Given the description of an element on the screen output the (x, y) to click on. 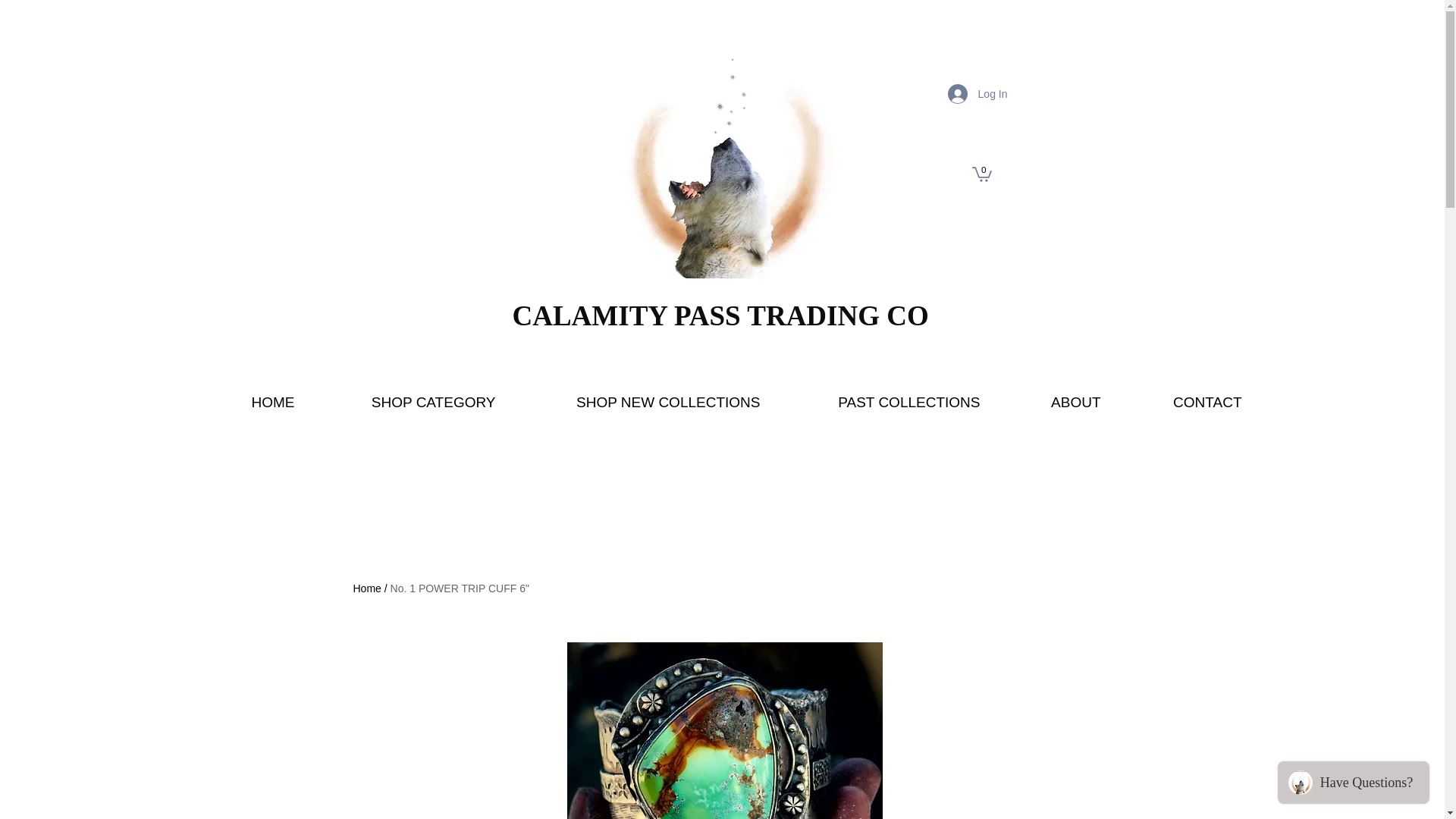
ABOUT (1051, 402)
Home (367, 588)
SHOP CATEGORY (405, 402)
0 (981, 173)
0 (981, 173)
No. 1 POWER TRIP CUFF 6" (459, 588)
CONTACT (1182, 402)
HOME (247, 402)
Log In (977, 93)
